Given the description of an element on the screen output the (x, y) to click on. 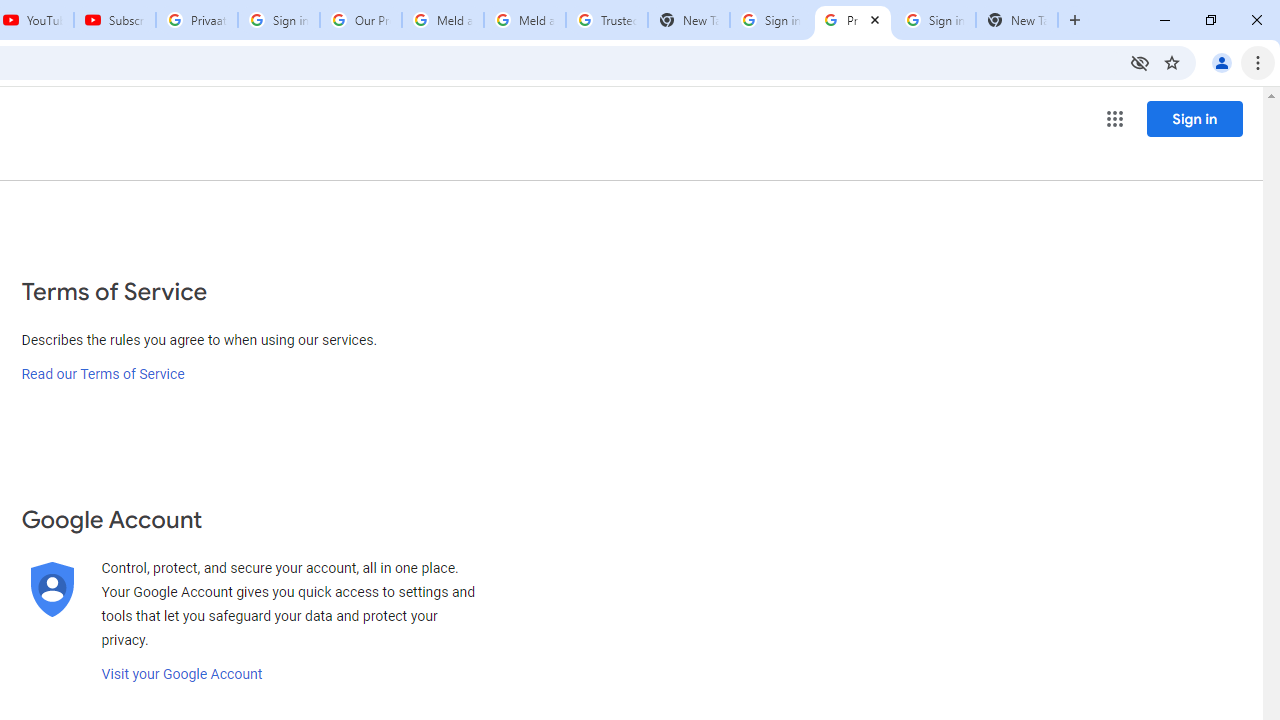
Trusted Information and Content - Google Safety Center (606, 20)
New Tab (1016, 20)
Visit your Google Account (181, 674)
You (1221, 62)
Sign in - Google Accounts (770, 20)
Subscriptions - YouTube (115, 20)
Close (875, 19)
Third-party cookies blocked (1139, 62)
Sign in - Google Accounts (934, 20)
Restore (1210, 20)
Bookmark this tab (1171, 62)
